Given the description of an element on the screen output the (x, y) to click on. 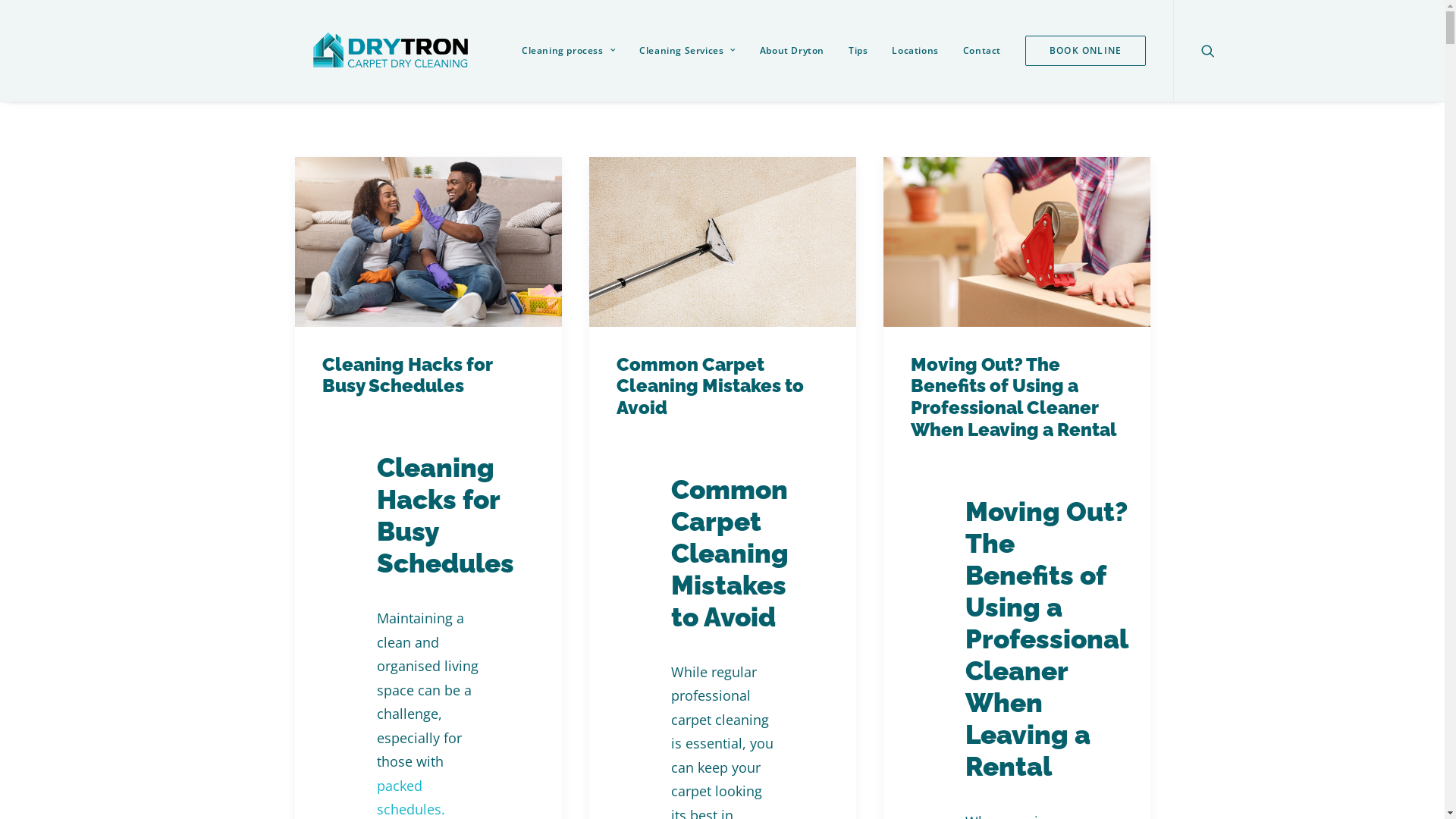
Common Carpet Cleaning Mistakes to Avoid Element type: text (709, 386)
Contact Element type: text (981, 50)
Cleaning process Element type: text (568, 50)
Locations Element type: text (914, 50)
Tips Element type: text (857, 50)
About Dryton Element type: text (791, 50)
Cleaning Hacks for Busy Schedules Element type: text (406, 375)
Cleaning Services Element type: text (687, 50)
BOOK ONLINE Element type: text (1079, 50)
